Given the description of an element on the screen output the (x, y) to click on. 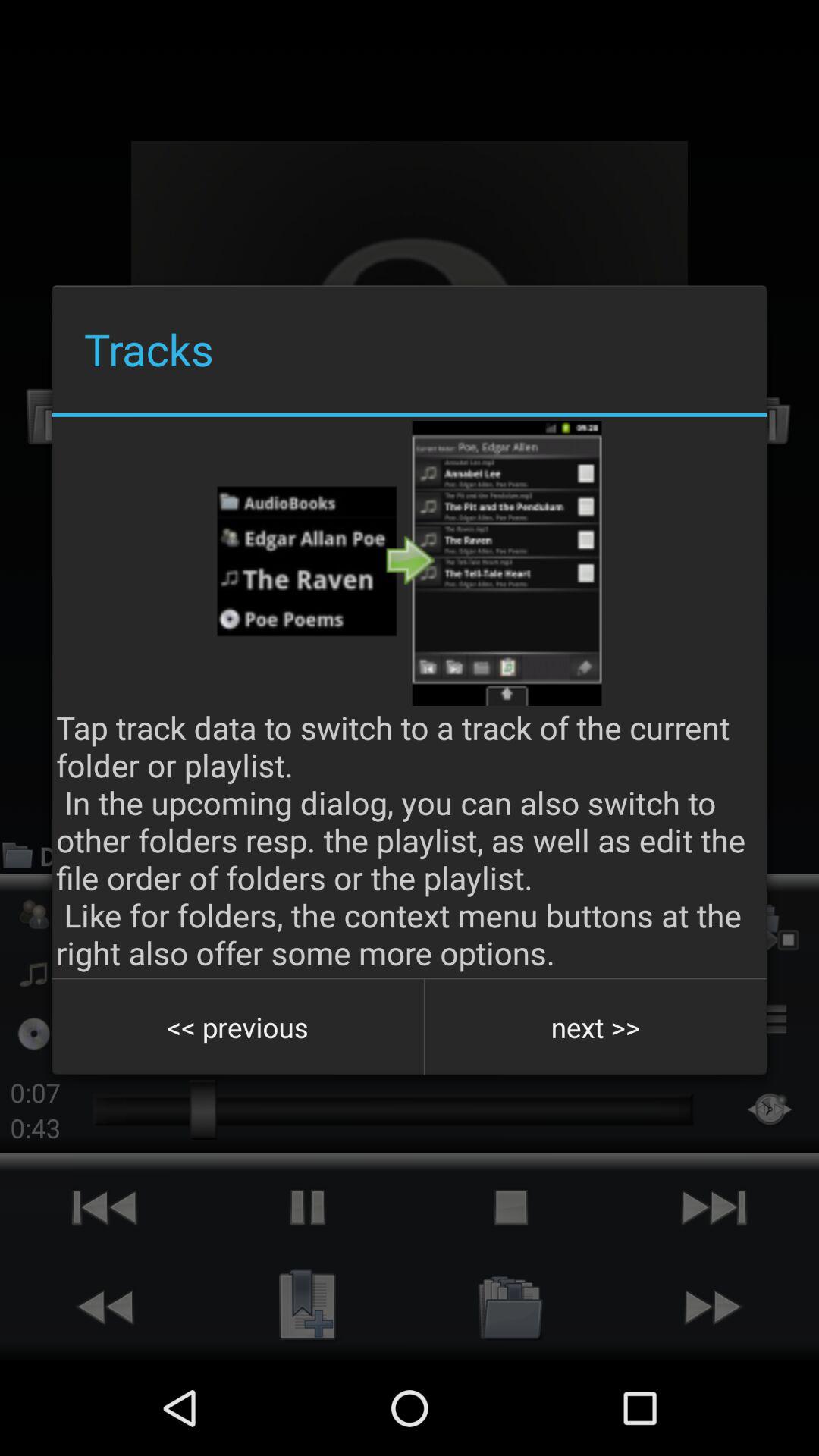
turn off the item to the right of the << previous icon (595, 1026)
